Given the description of an element on the screen output the (x, y) to click on. 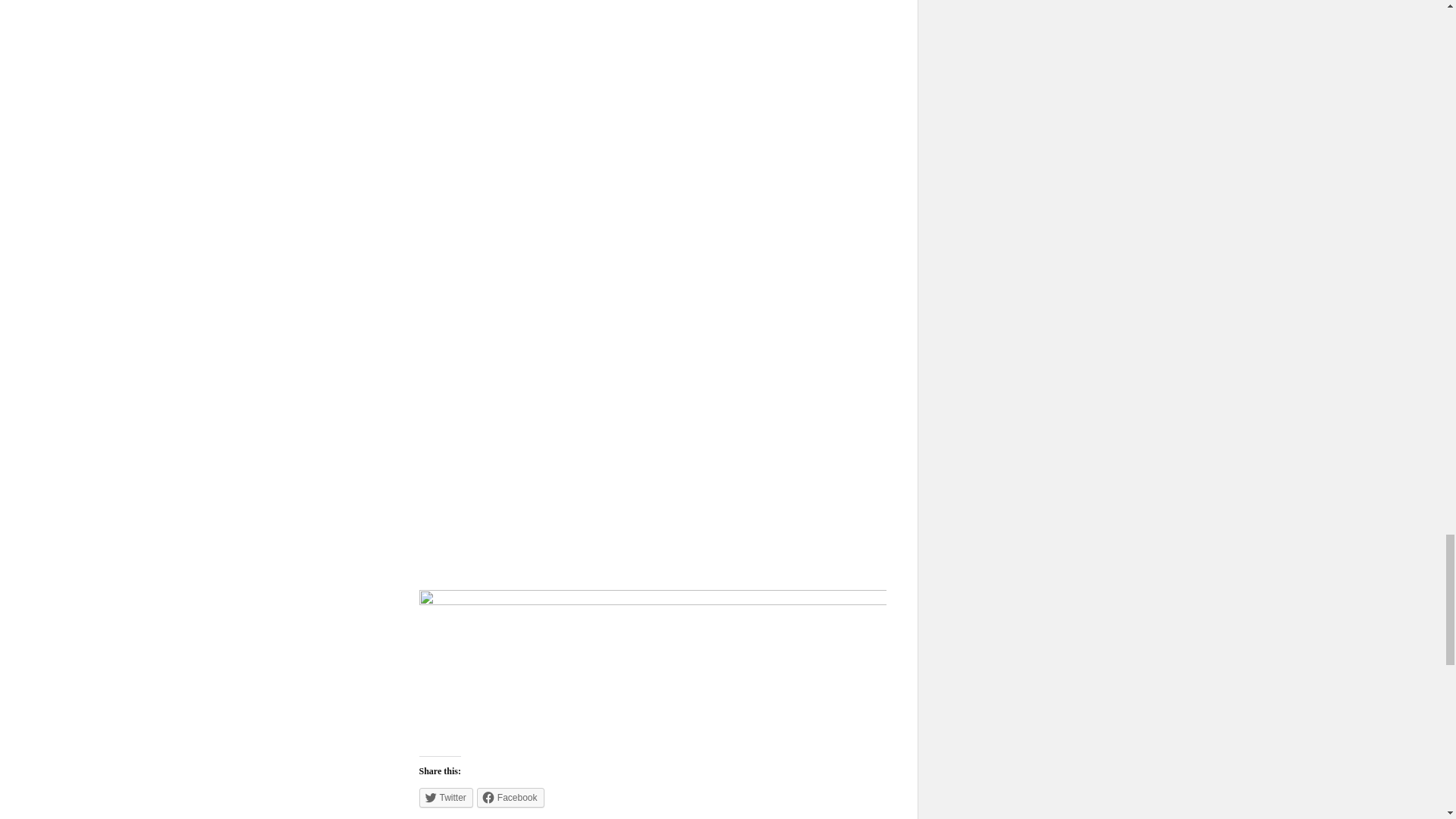
Demos Galore January 2021: Many Messages Bundle (652, 431)
Click to share on Twitter (445, 797)
Twitter (445, 797)
Click to share on Facebook (510, 797)
Facebook (510, 797)
